Given the description of an element on the screen output the (x, y) to click on. 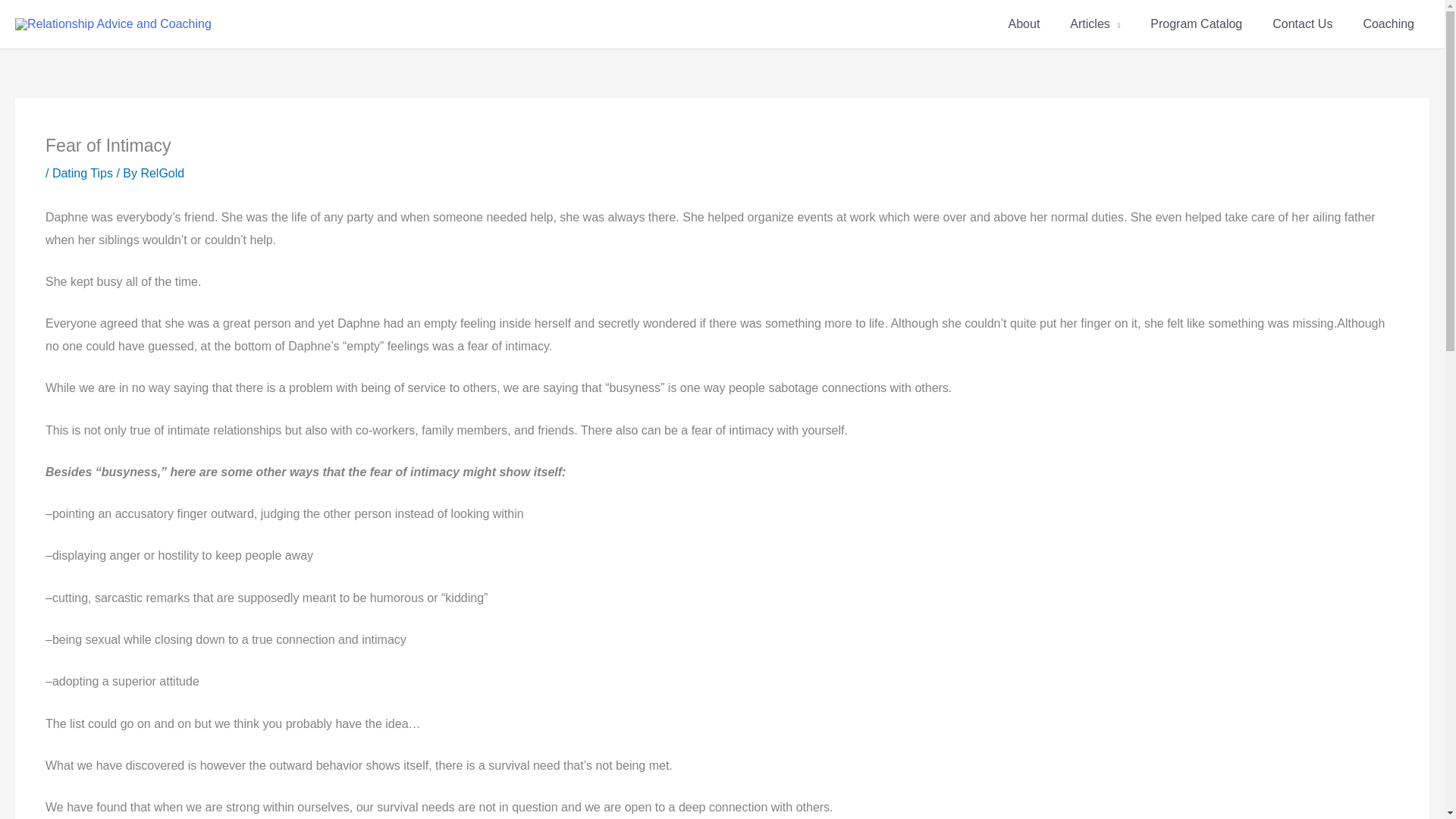
Articles (1094, 24)
About (1023, 24)
Coaching (1388, 24)
View all posts by RelGold (161, 173)
RelGold (161, 173)
Program Catalog (1196, 24)
Dating Tips (82, 173)
Contact Us (1302, 24)
